Given the description of an element on the screen output the (x, y) to click on. 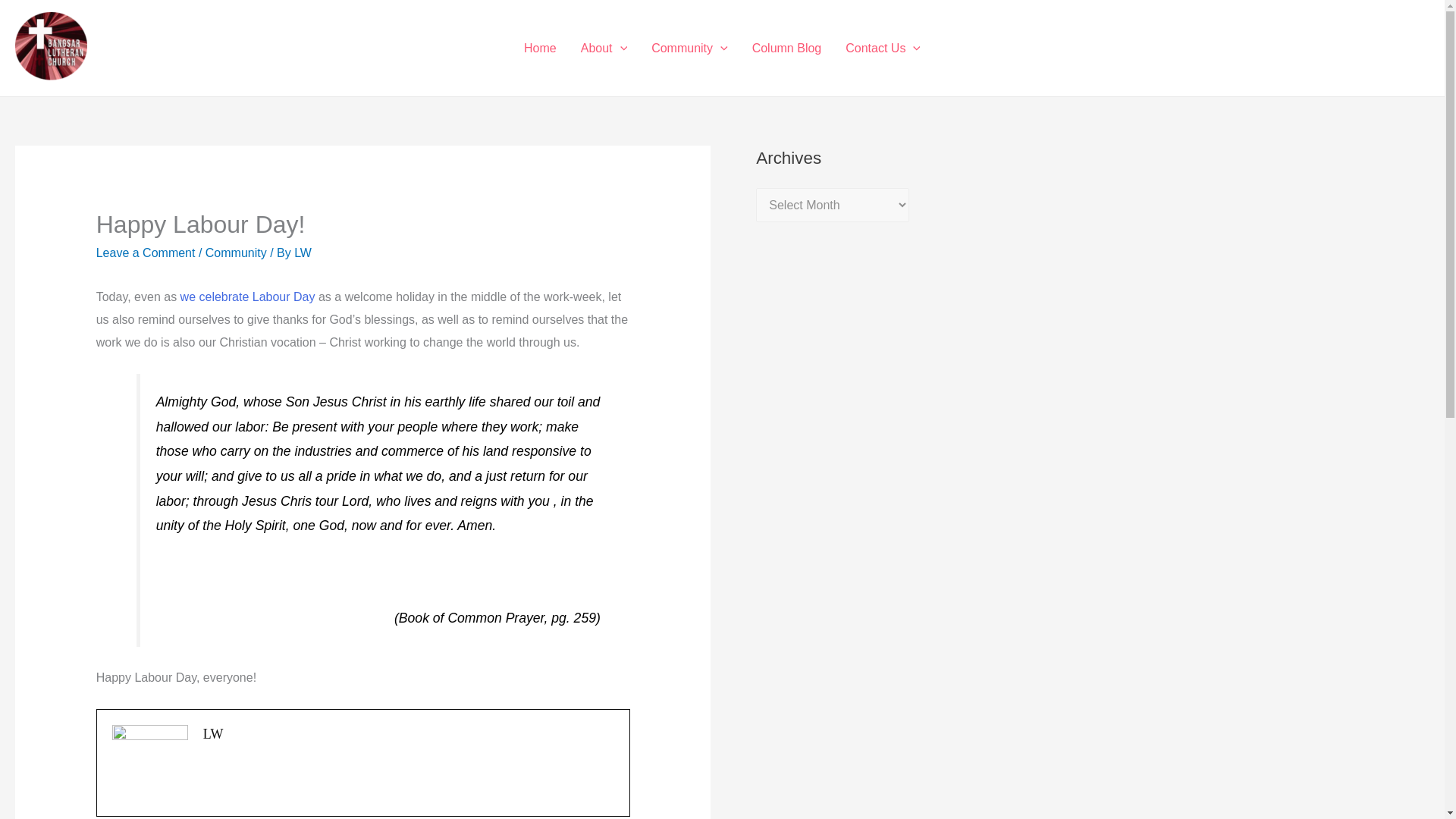
View all posts by LW (302, 252)
Column Blog (786, 47)
Home (540, 47)
Community (689, 47)
Community (235, 252)
About (604, 47)
Leave a Comment (145, 252)
Contact Us (882, 47)
